Given the description of an element on the screen output the (x, y) to click on. 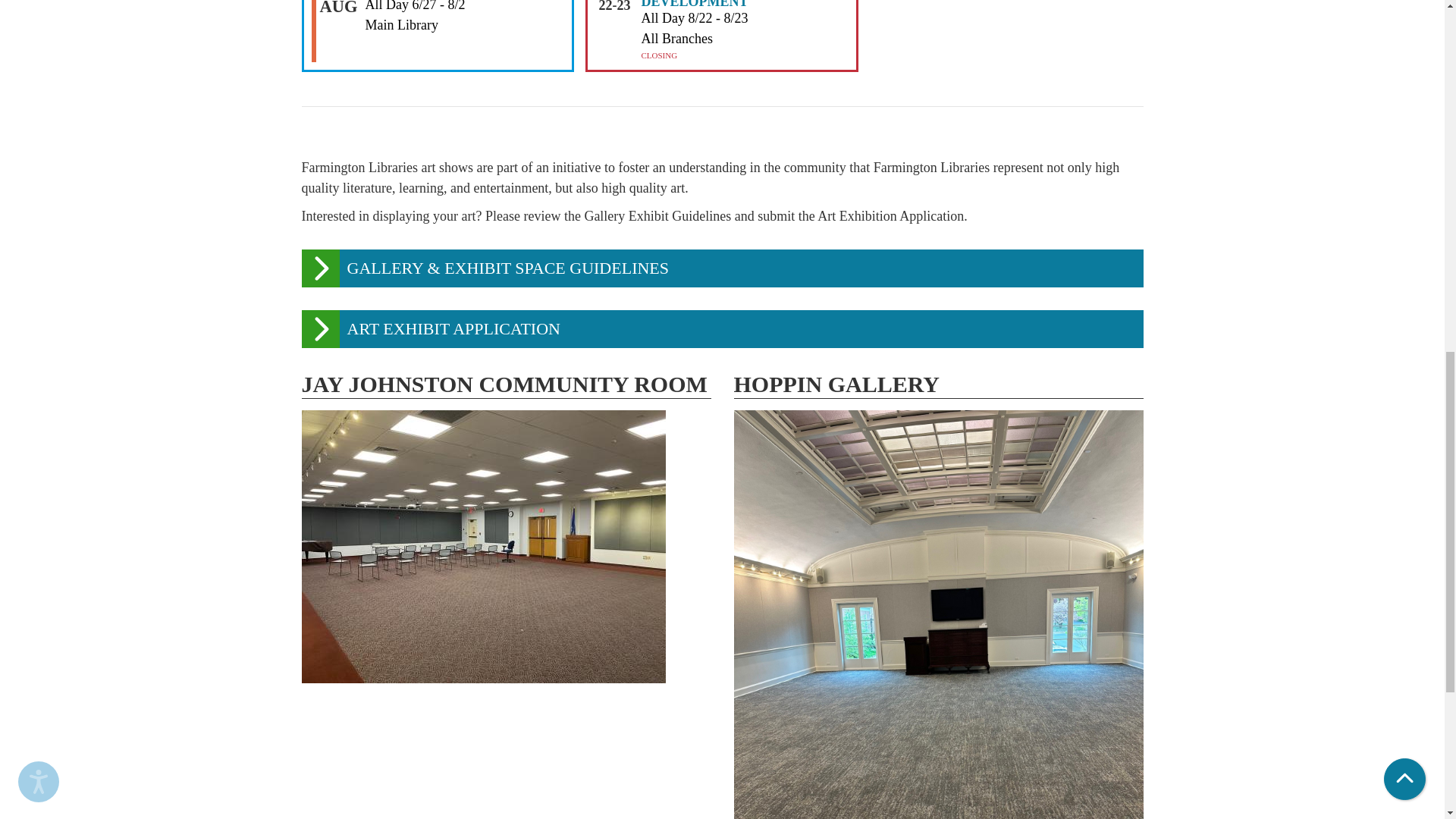
Community Room from Kitchen (483, 546)
Community Room from Kitchen (506, 546)
